Given the description of an element on the screen output the (x, y) to click on. 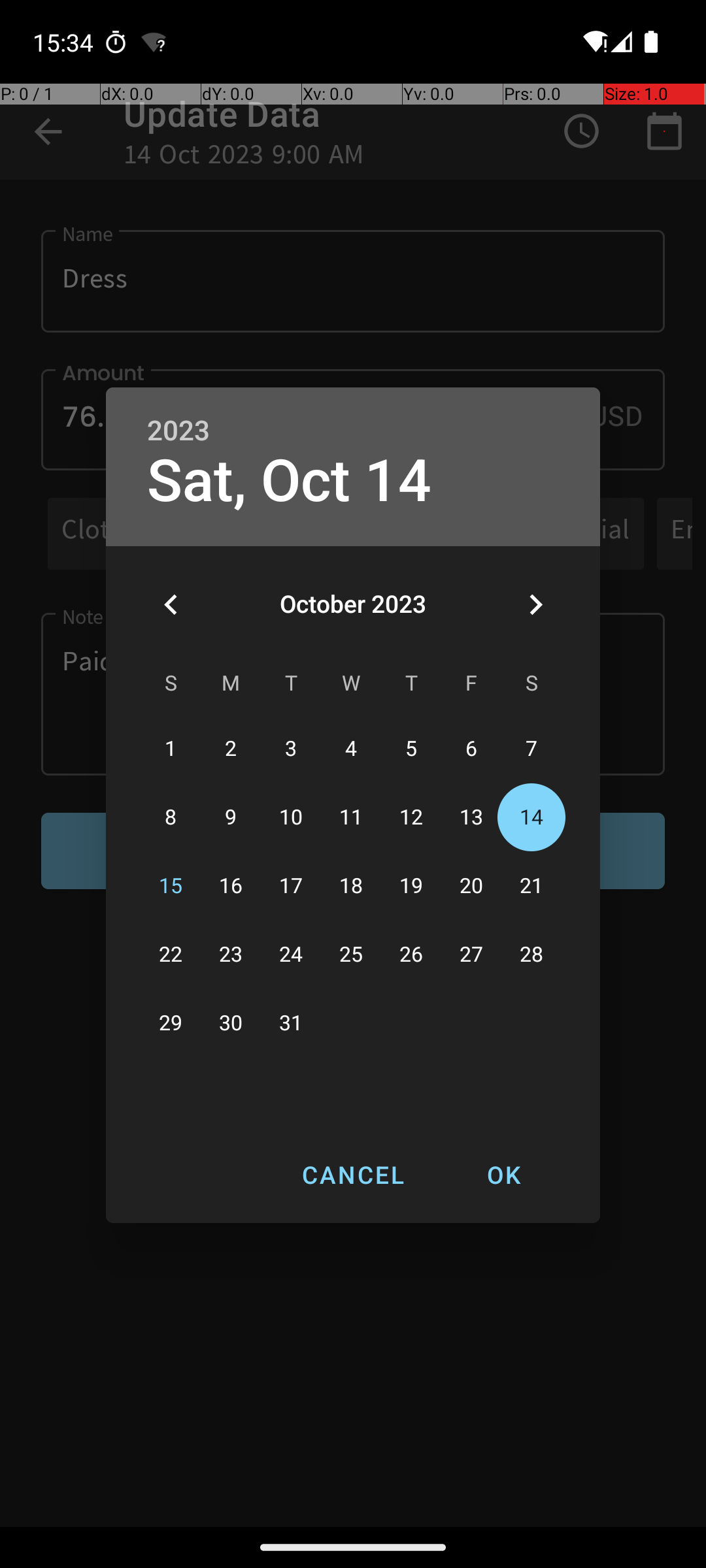
Sat, Oct 14 Element type: android.widget.TextView (289, 480)
